Given the description of an element on the screen output the (x, y) to click on. 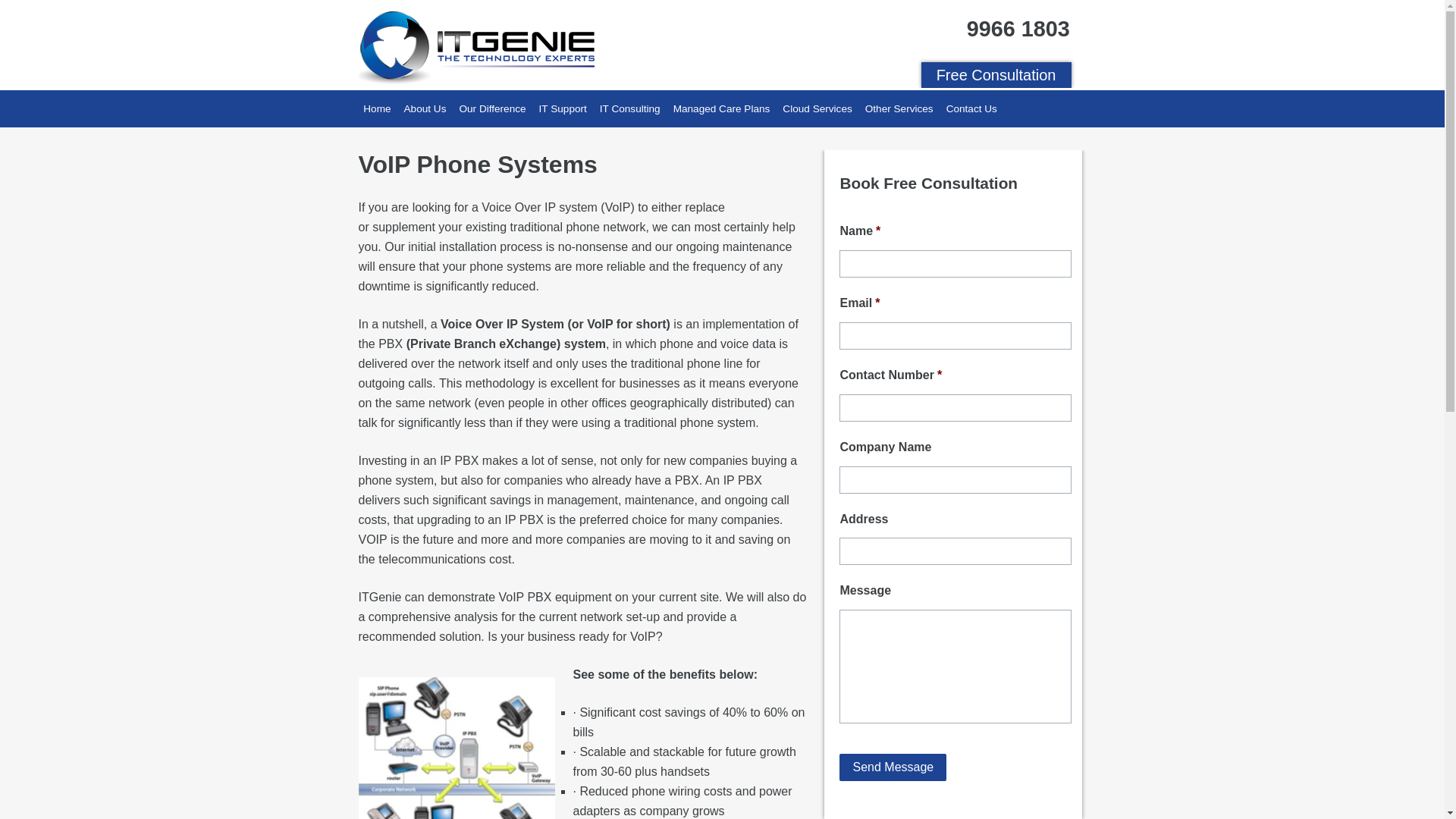
Home Element type: text (376, 108)
Cloud Services Element type: text (817, 108)
Send Message Element type: text (892, 767)
Contact Us Element type: text (971, 108)
IT Consulting Element type: text (629, 108)
Other Services Element type: text (898, 108)
Our Difference Element type: text (492, 108)
About Us Element type: text (424, 108)
IT Support Element type: text (562, 108)
Free Consultation Element type: text (996, 74)
Managed Care Plans Element type: text (721, 108)
